Given the description of an element on the screen output the (x, y) to click on. 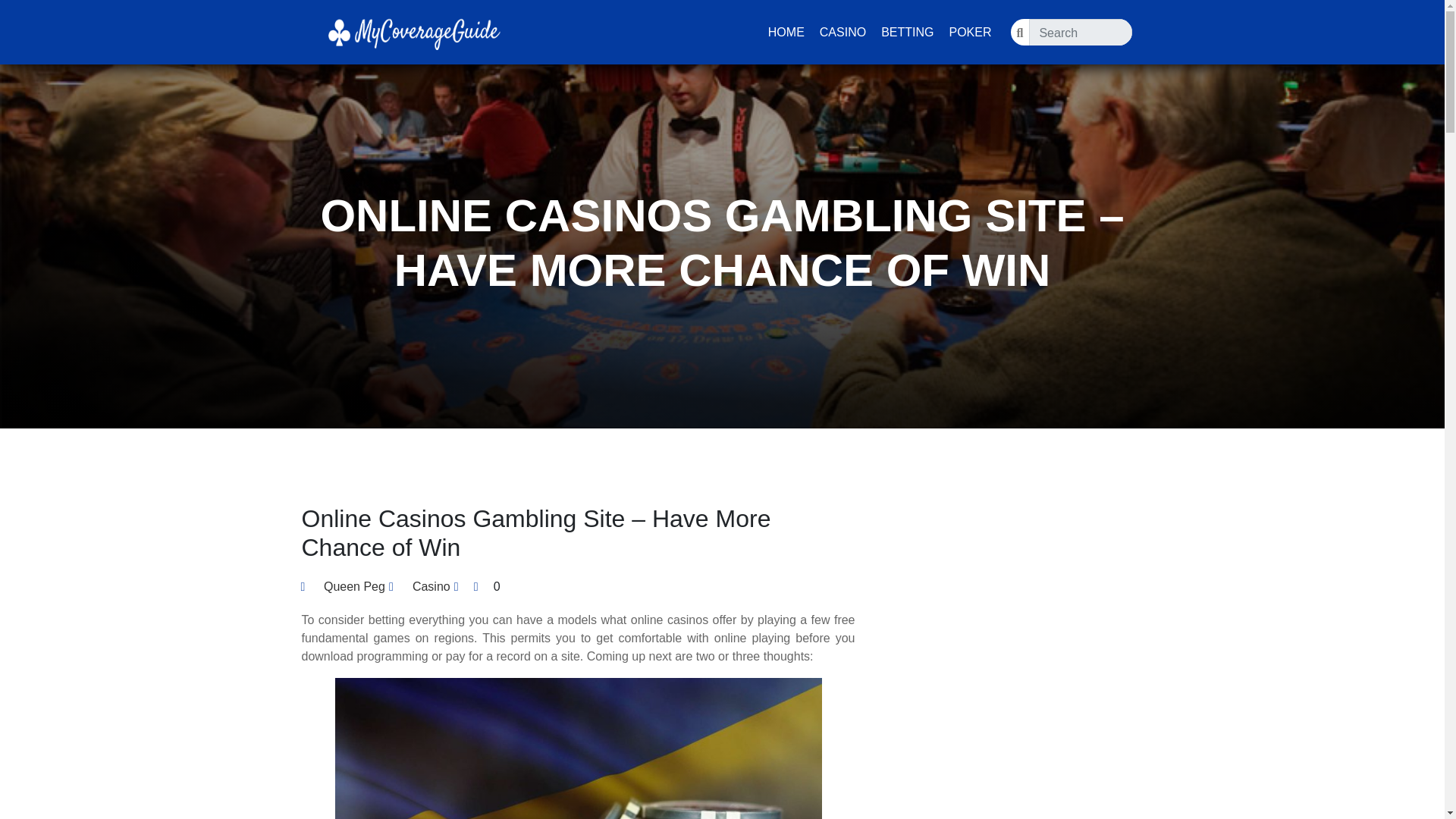
Queen Peg (342, 586)
Casino (431, 586)
